Given the description of an element on the screen output the (x, y) to click on. 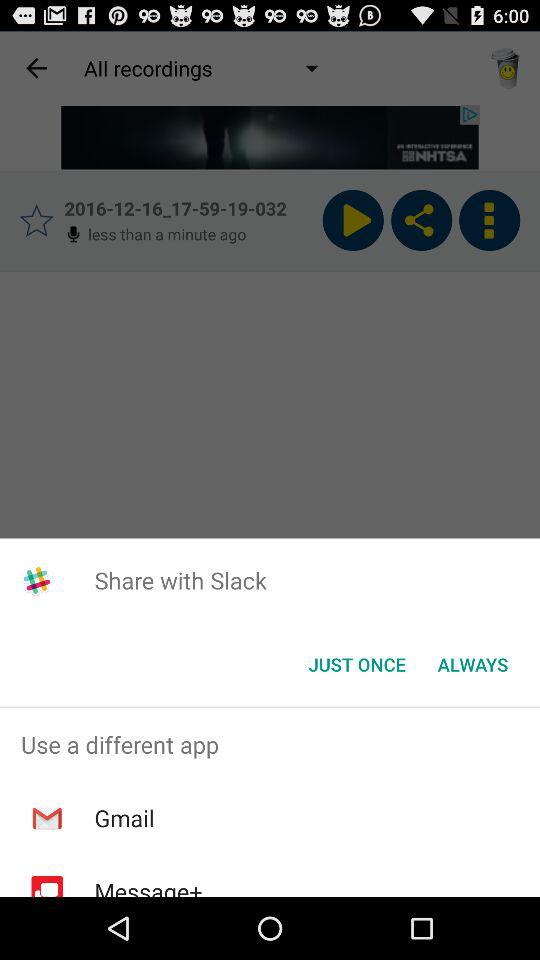
press the gmail (124, 817)
